Given the description of an element on the screen output the (x, y) to click on. 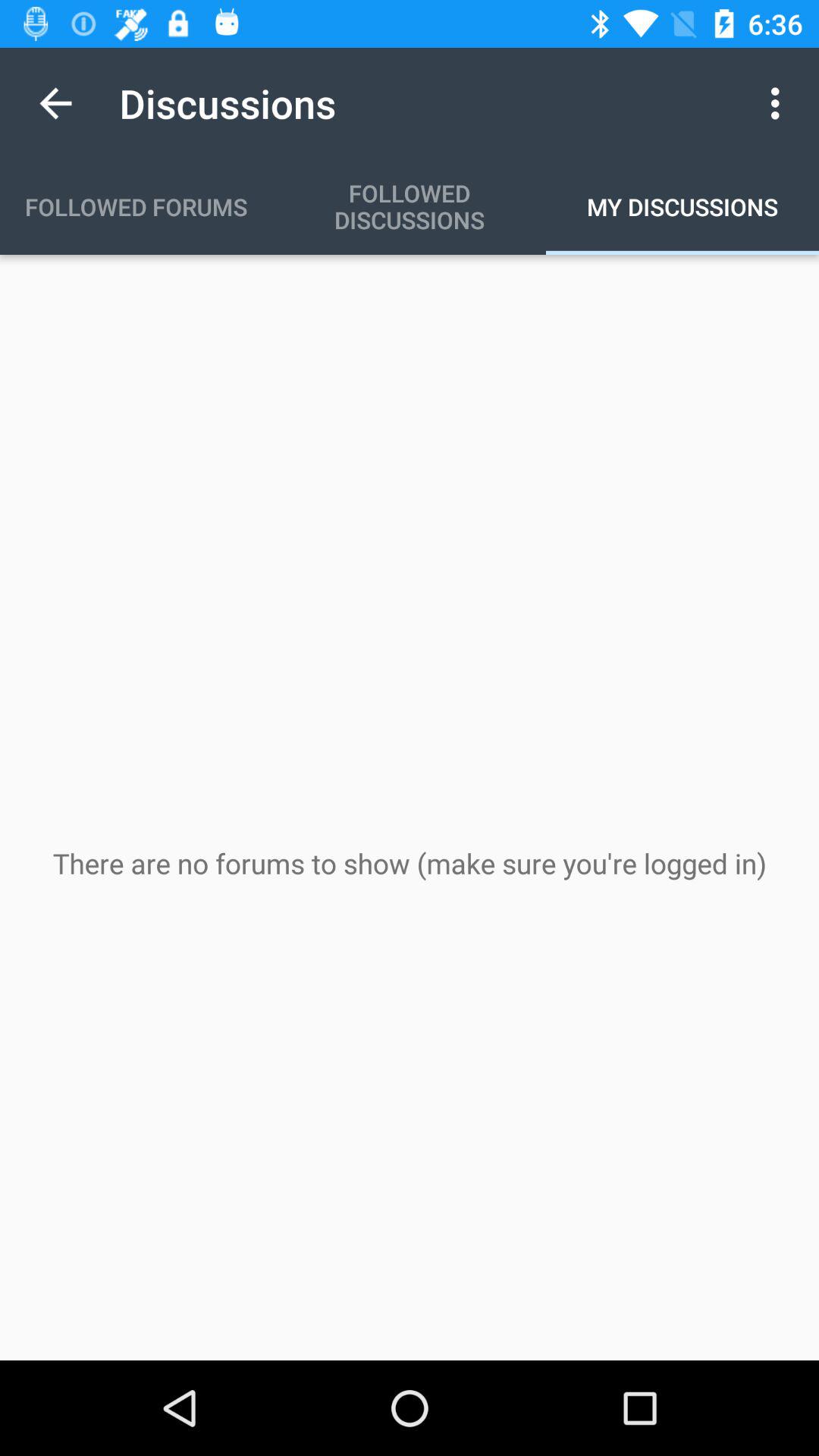
turn on the item above followed forums icon (55, 103)
